Given the description of an element on the screen output the (x, y) to click on. 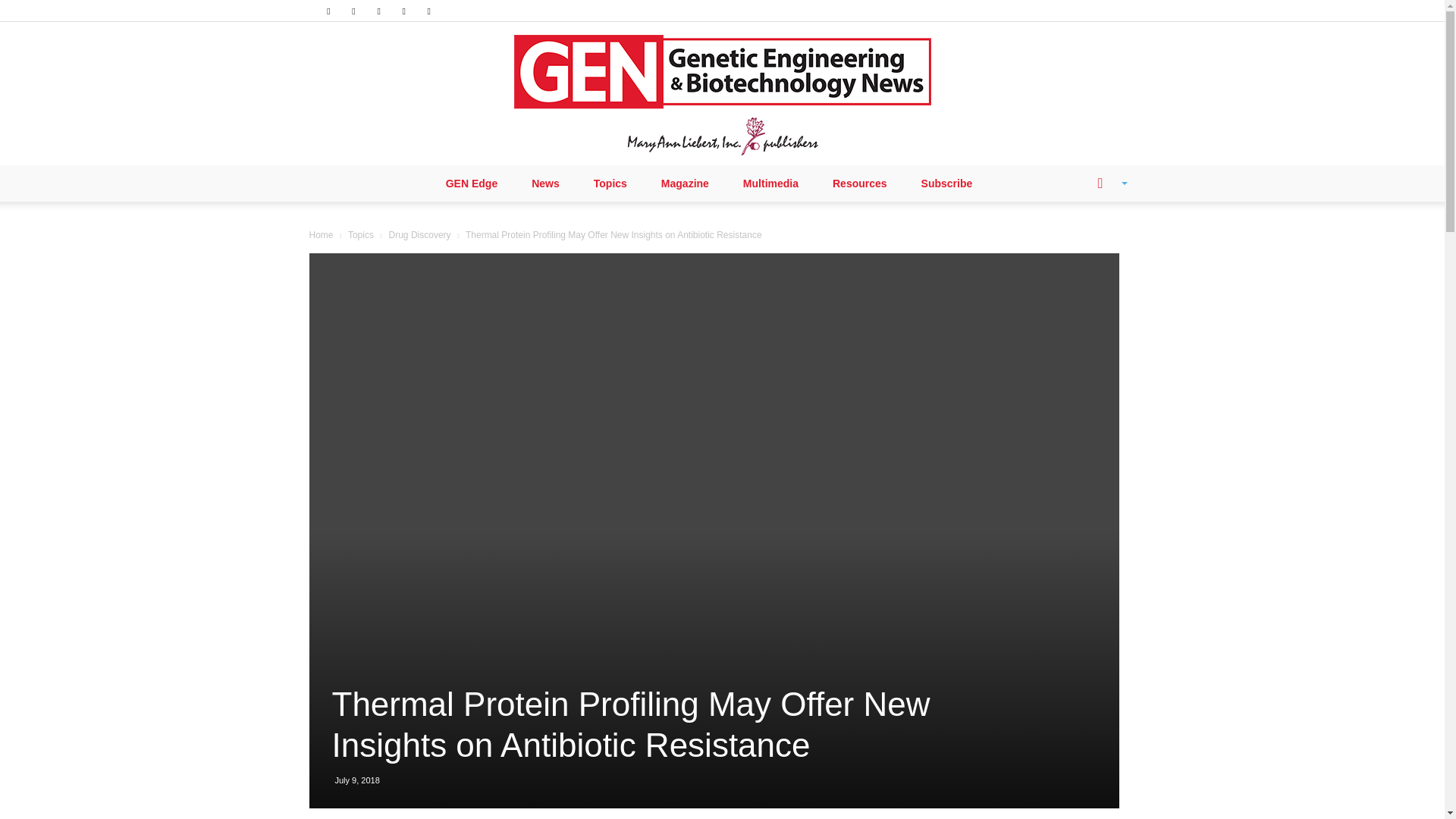
Linkedin (353, 10)
View all posts in Drug Discovery (419, 235)
Twitter (403, 10)
Youtube (429, 10)
Facebook (328, 10)
View all posts in Topics (360, 235)
RSS (379, 10)
